Given the description of an element on the screen output the (x, y) to click on. 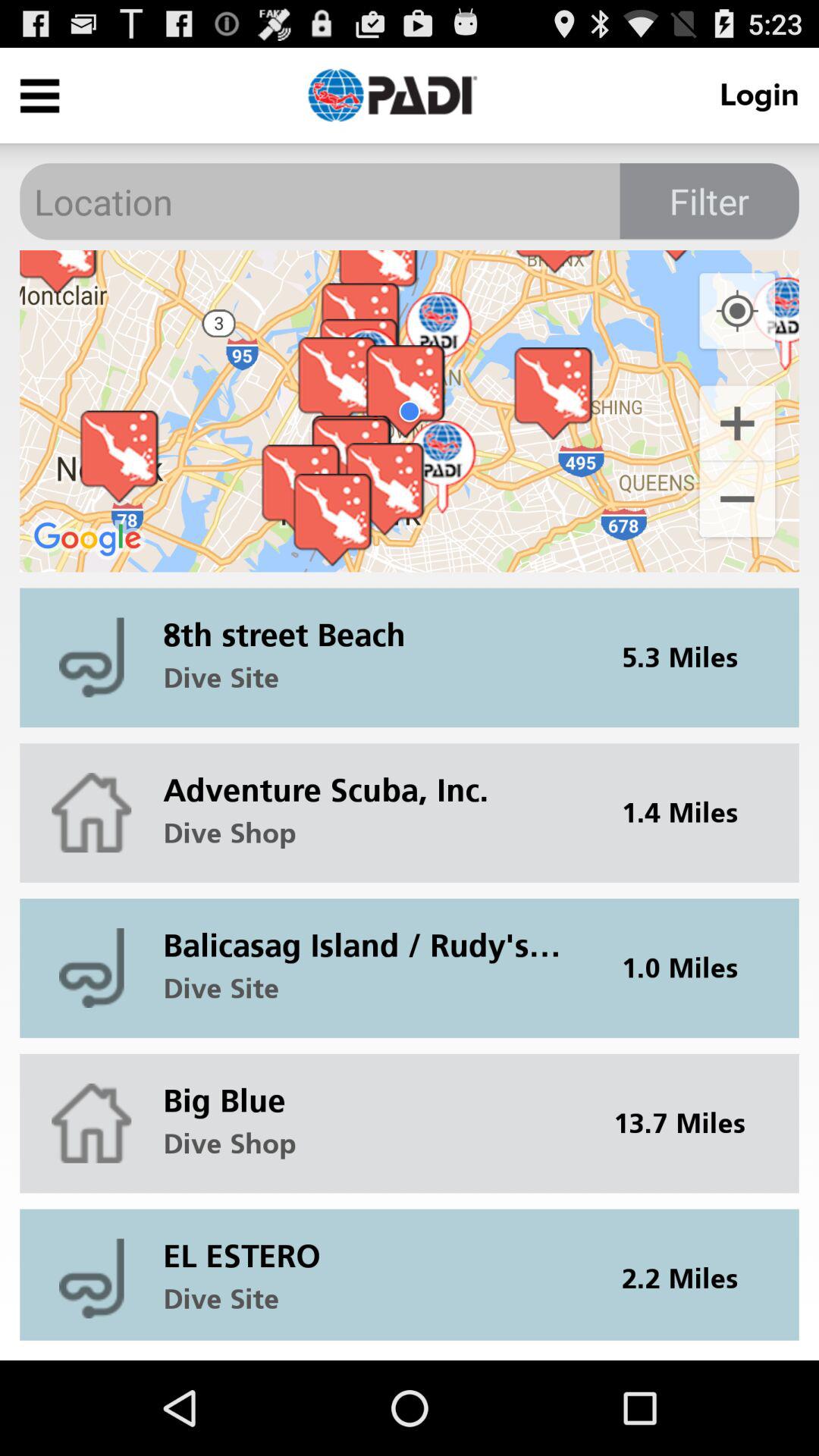
scroll until the 13.7 miles (689, 1123)
